Given the description of an element on the screen output the (x, y) to click on. 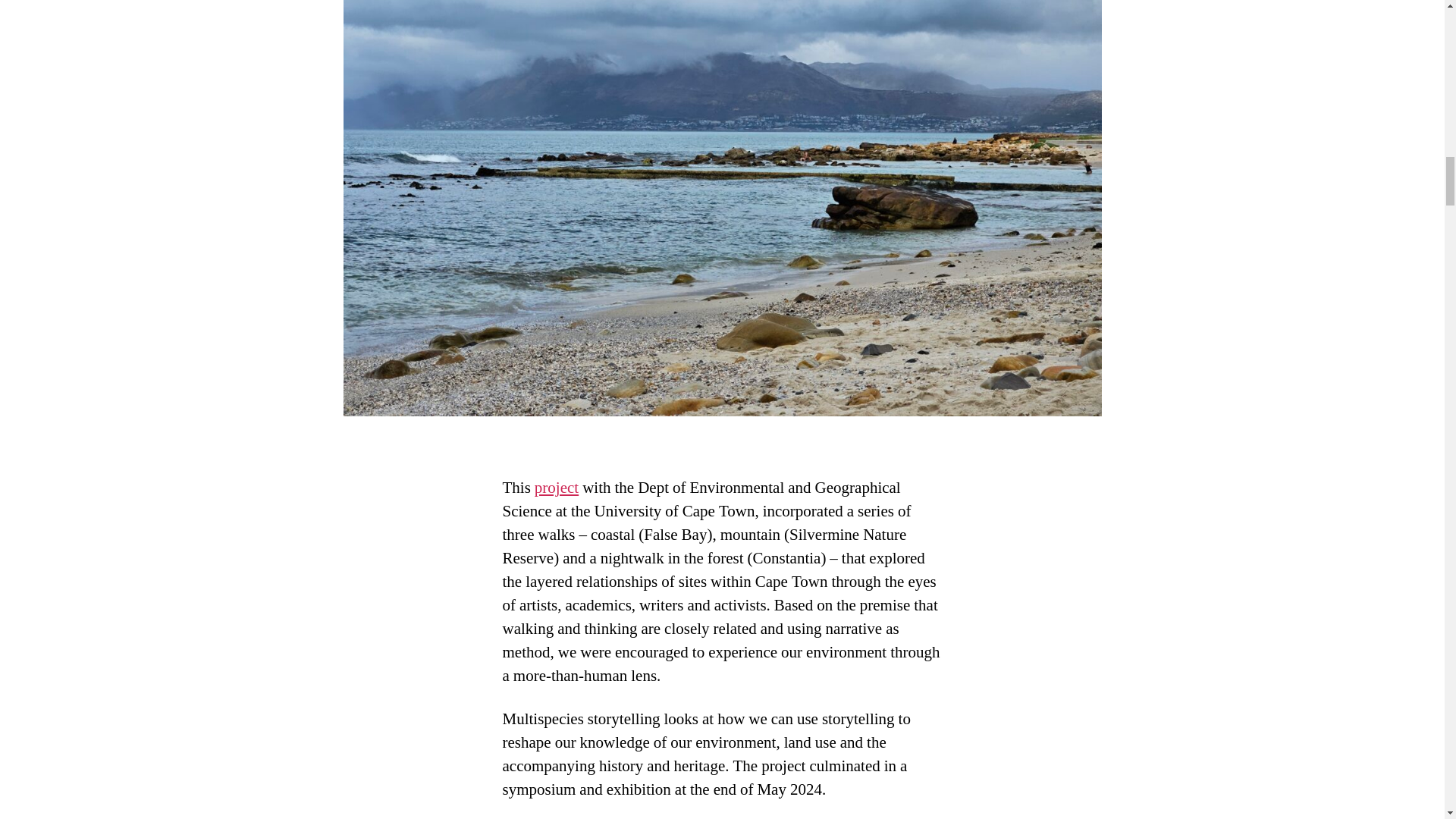
project (556, 487)
